Given the description of an element on the screen output the (x, y) to click on. 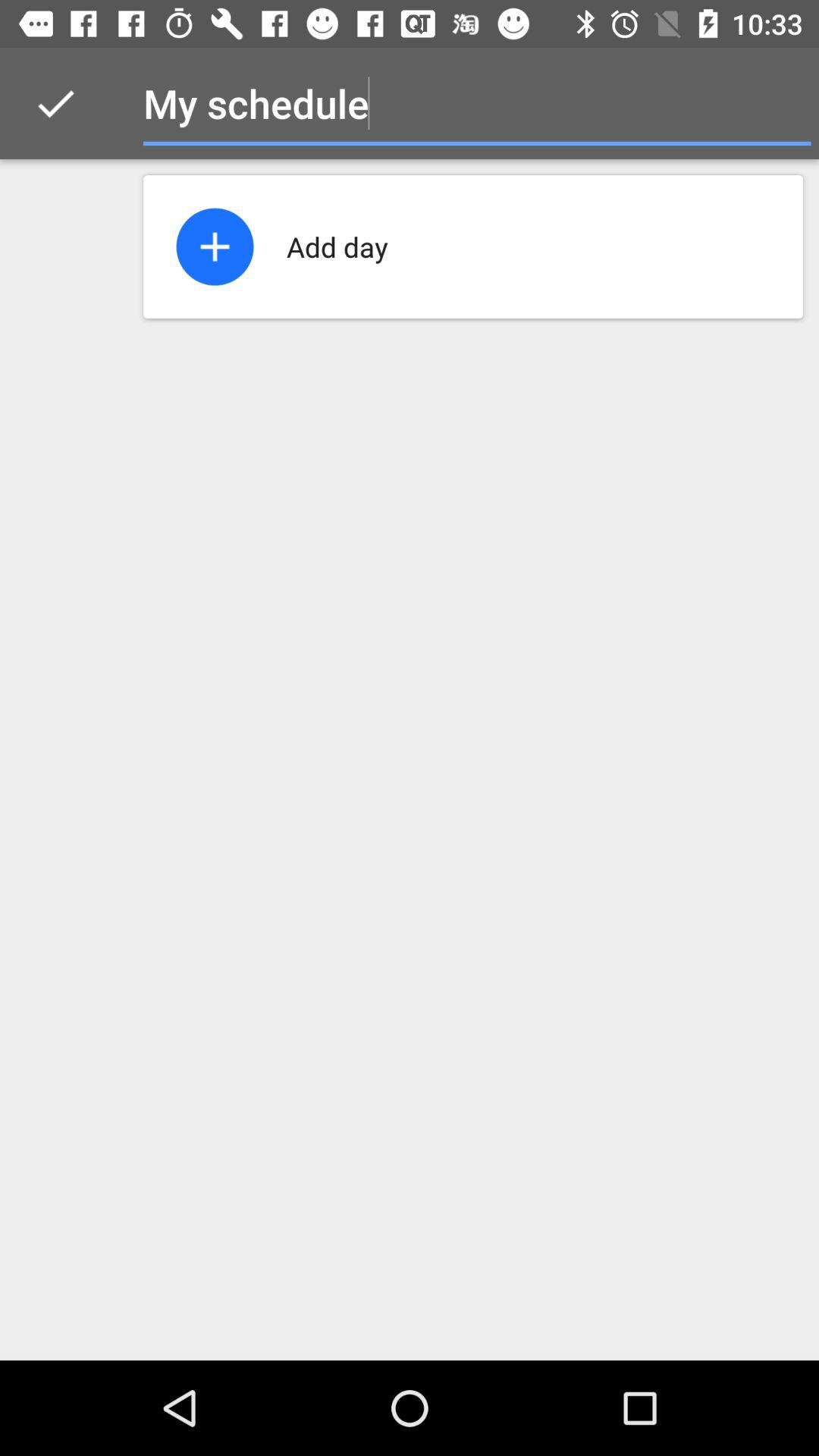
tap the icon to the left of the my schedule icon (55, 103)
